Given the description of an element on the screen output the (x, y) to click on. 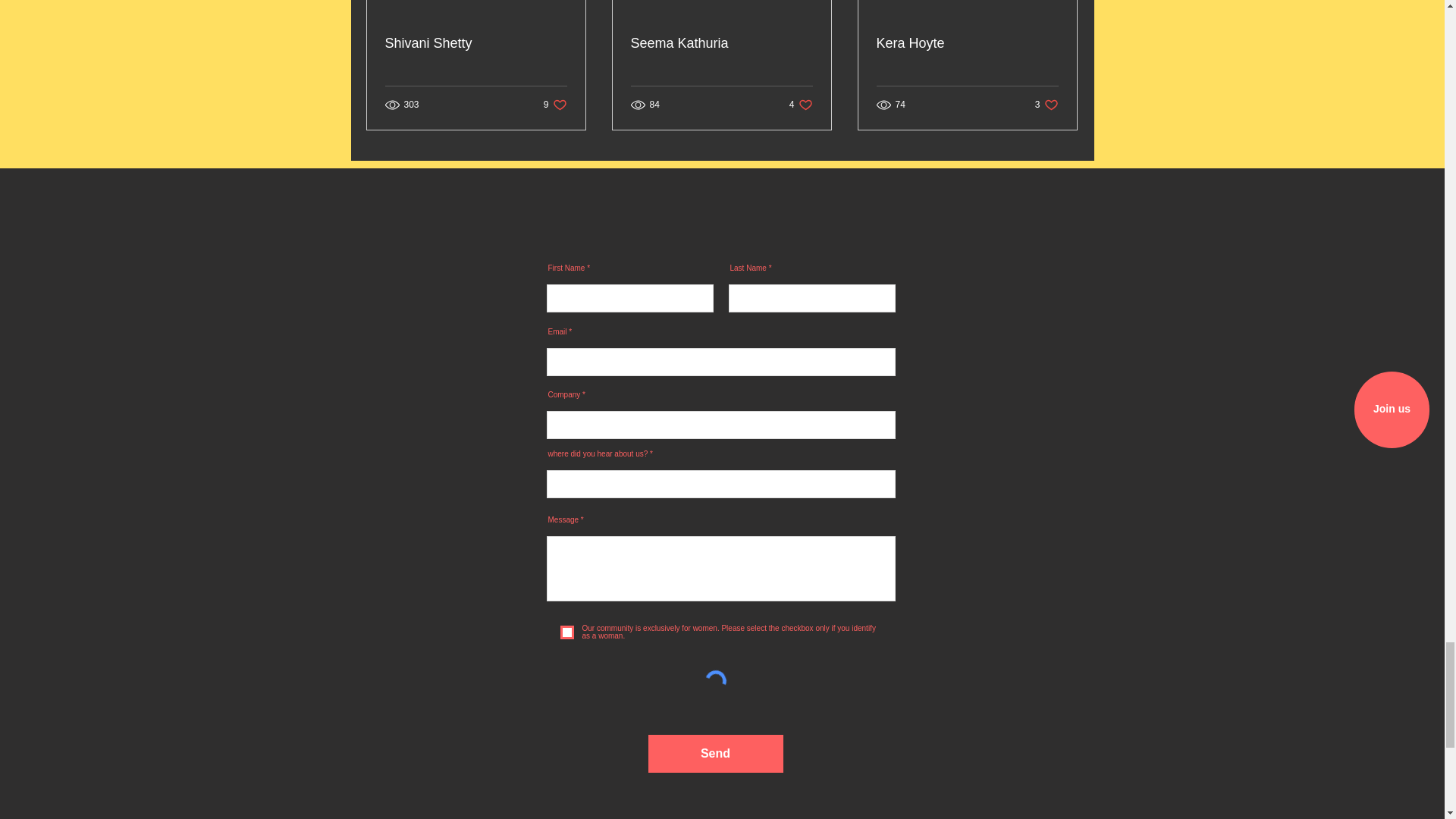
Shivani Shetty (800, 104)
Seema Kathuria (476, 43)
